Given the description of an element on the screen output the (x, y) to click on. 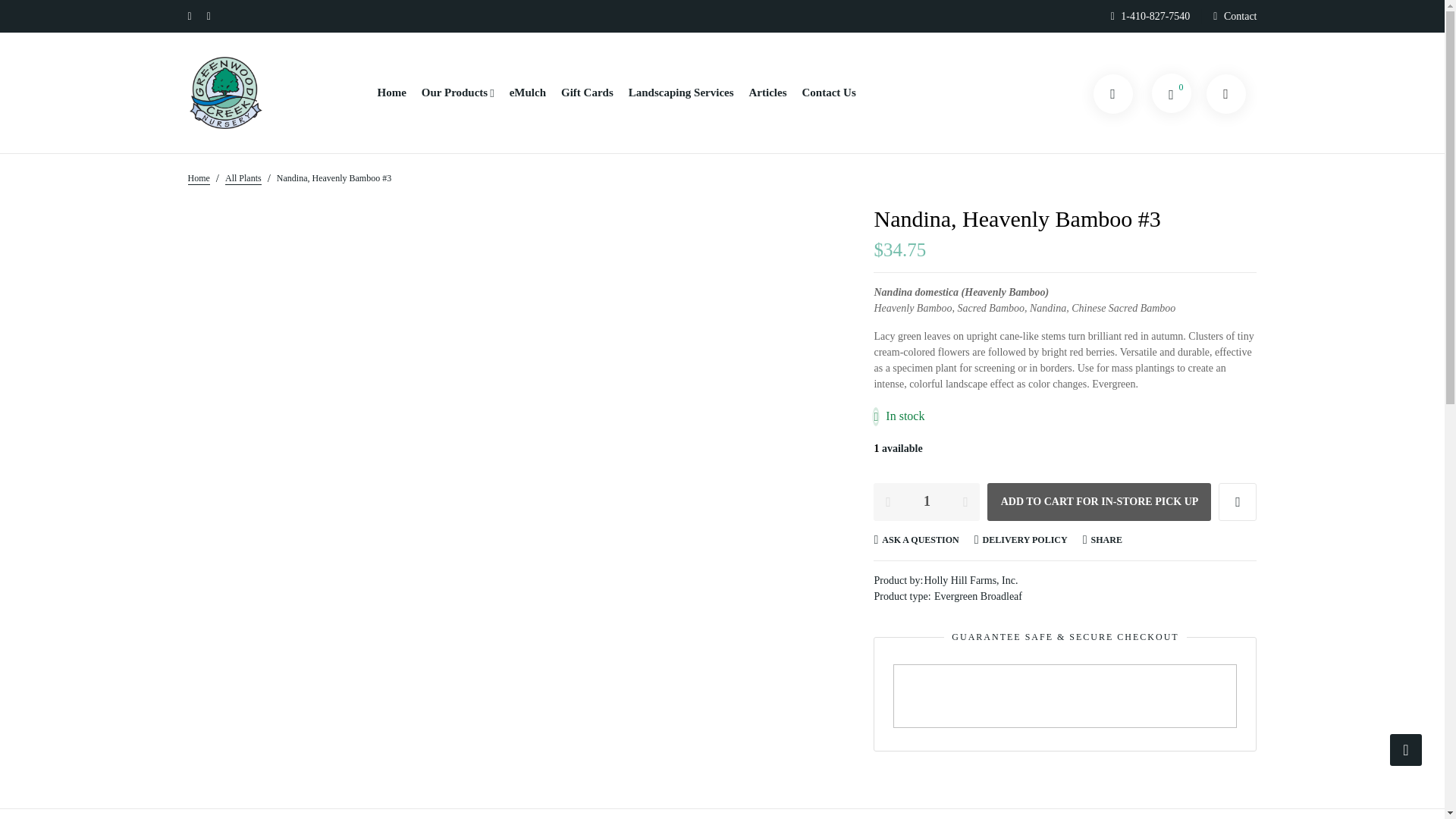
Gift Cards (586, 92)
Contact (1240, 16)
Call Us (1155, 16)
Articles (768, 92)
1 (926, 501)
Contact Us (829, 92)
Home (198, 177)
All Plants (243, 177)
Our Products (458, 92)
eMulch (527, 92)
